Given the description of an element on the screen output the (x, y) to click on. 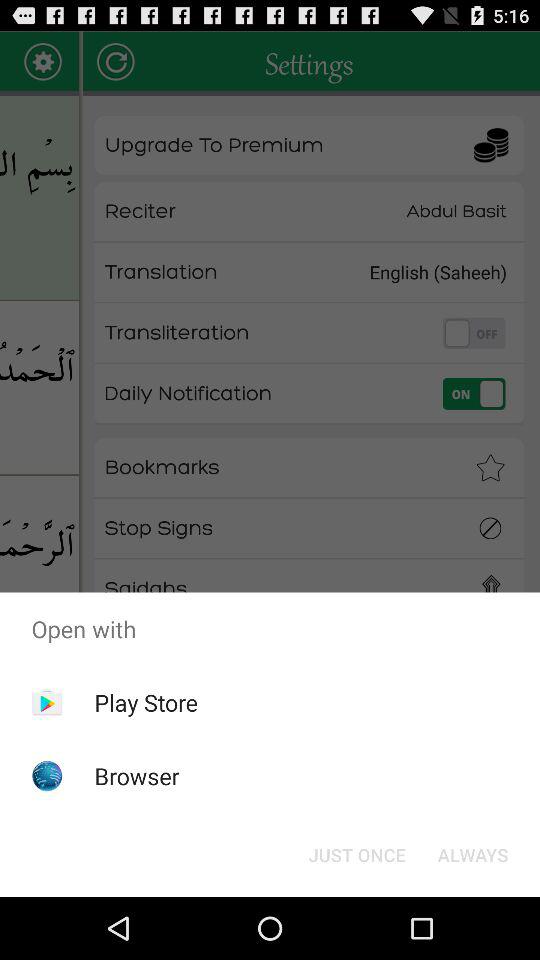
choose the browser app (136, 775)
